Given the description of an element on the screen output the (x, y) to click on. 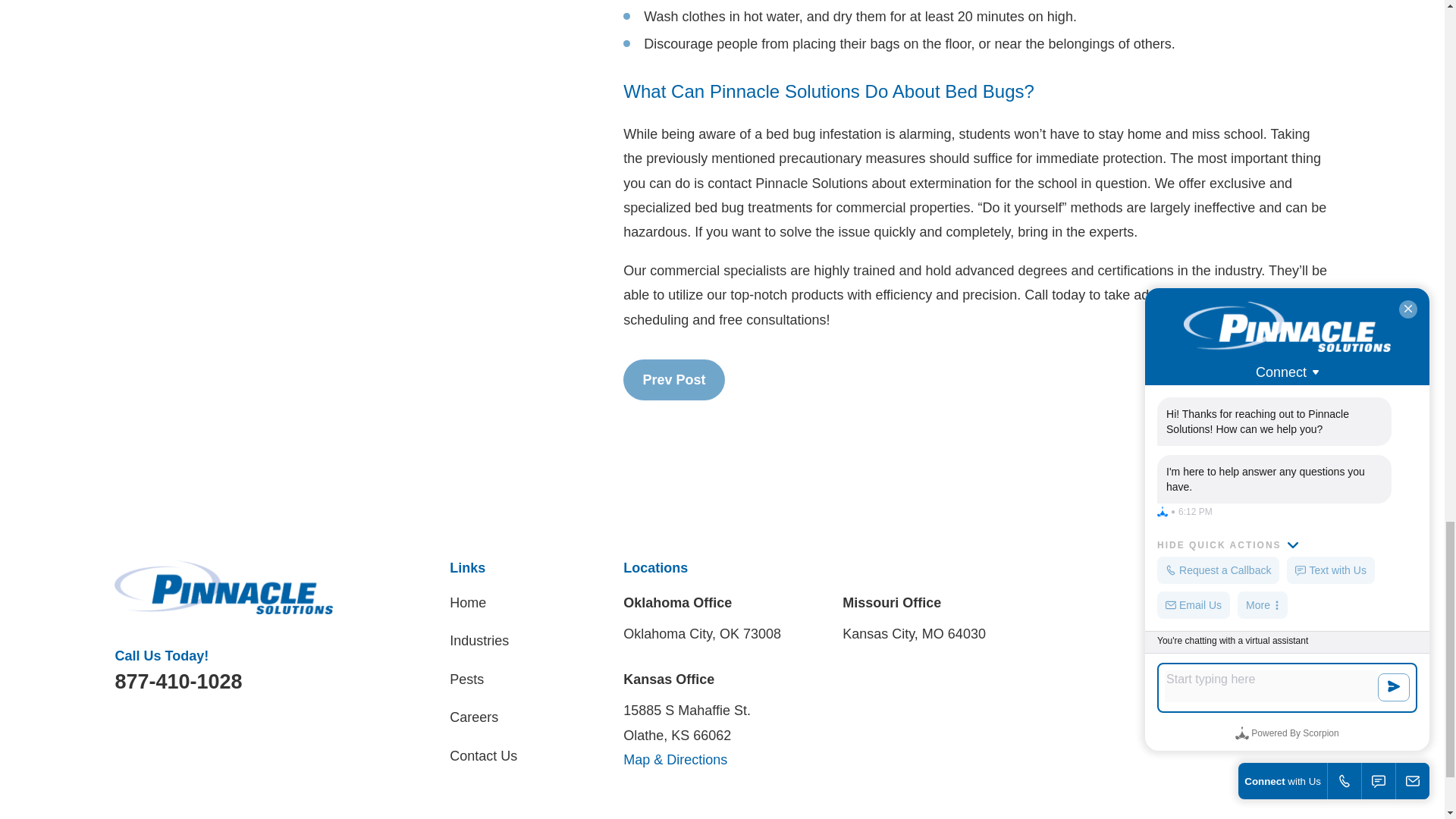
Home (224, 587)
Google Business Profile (1195, 599)
Facebook (1156, 599)
LinkedIn (1236, 599)
